Given the description of an element on the screen output the (x, y) to click on. 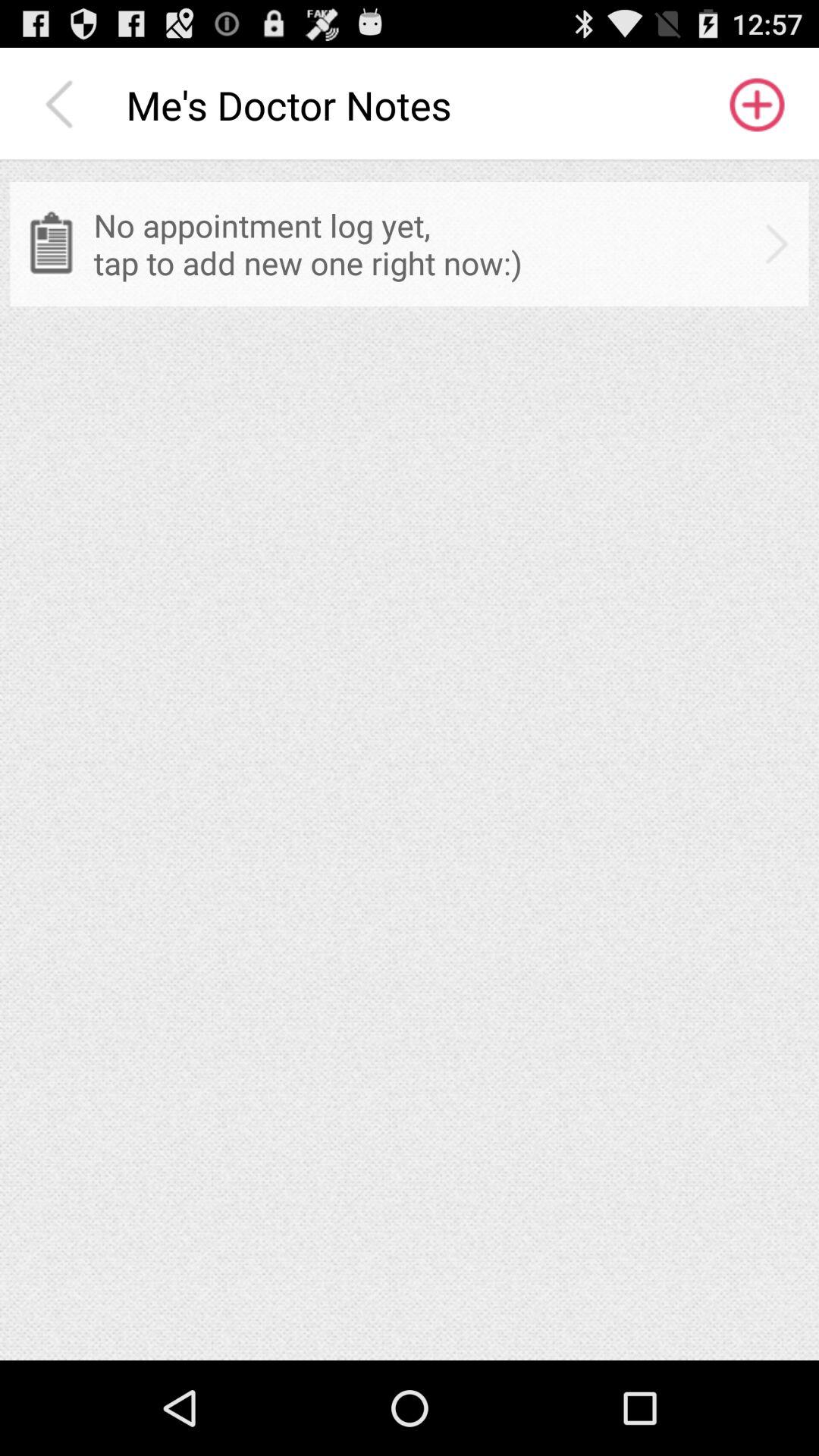
turn on the app next to the me s doctor item (755, 104)
